Given the description of an element on the screen output the (x, y) to click on. 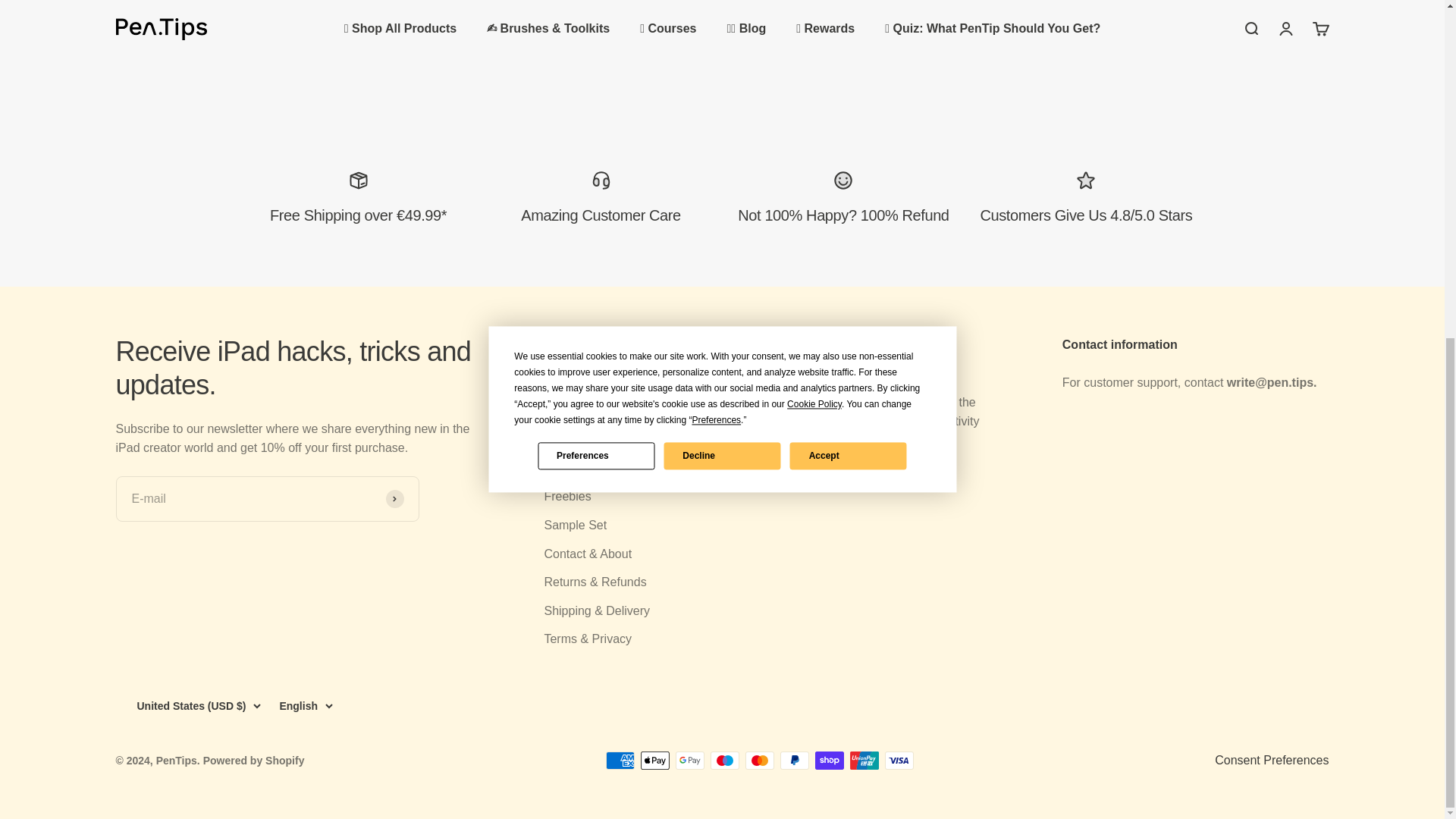
Subscribe (394, 498)
